Given the description of an element on the screen output the (x, y) to click on. 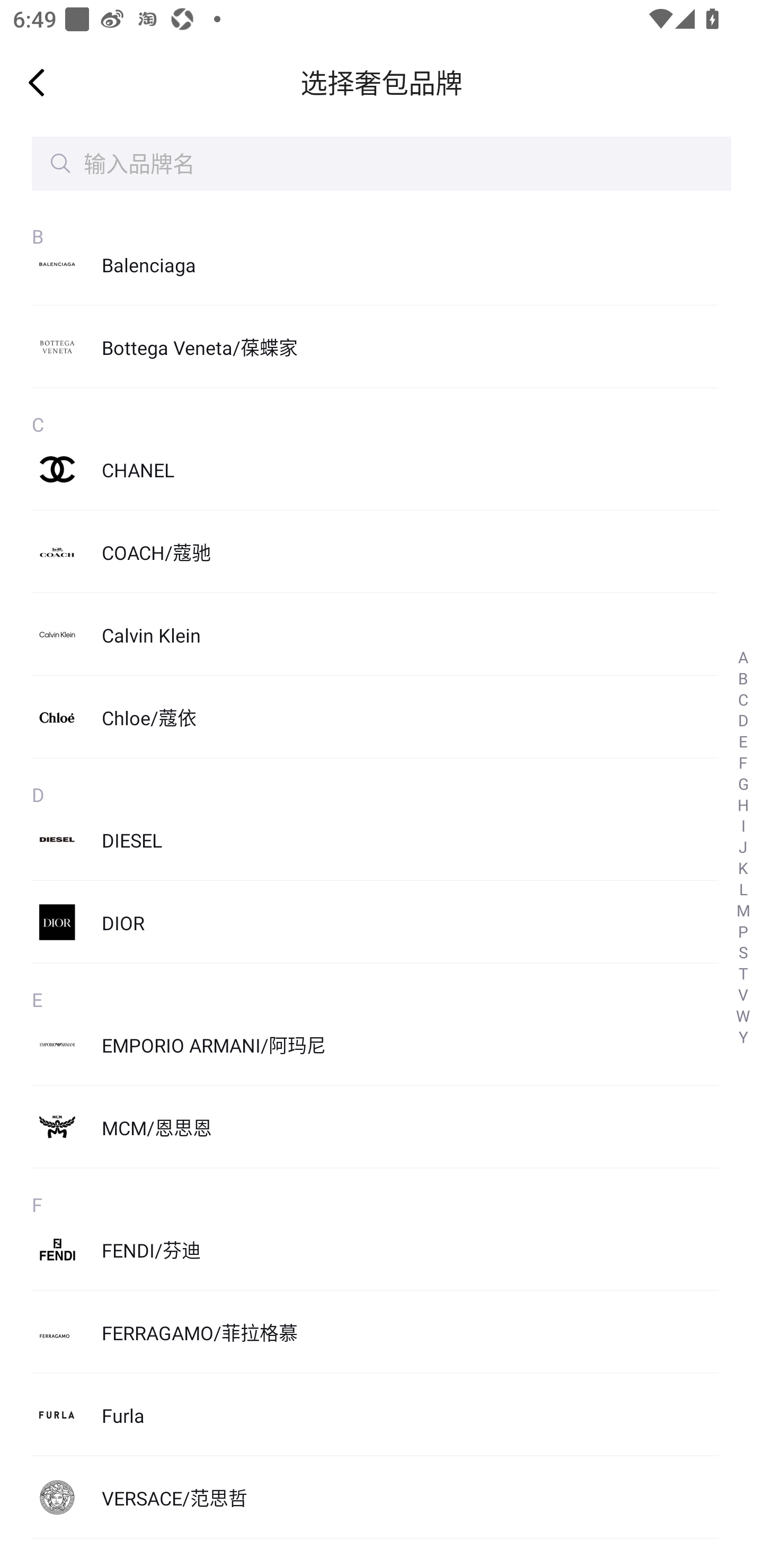
Navigate up (36, 82)
输入品牌名 (381, 163)
Balenciaga (375, 263)
Bottega Veneta/葆蝶家 (375, 346)
CHANEL (375, 469)
COACH/蔻驰 (375, 551)
Calvin Klein (375, 633)
Chloe/蔻依 (375, 716)
DIESEL (375, 839)
DIOR (375, 922)
EMPORIO ARMANI/阿玛尼 (375, 1044)
MCM/恩思恩 (375, 1127)
FENDI/芬迪 (375, 1249)
FERRAGAMO/菲拉格慕 (375, 1331)
Furla (375, 1414)
VERSACE/范思哲 (375, 1497)
